Given the description of an element on the screen output the (x, y) to click on. 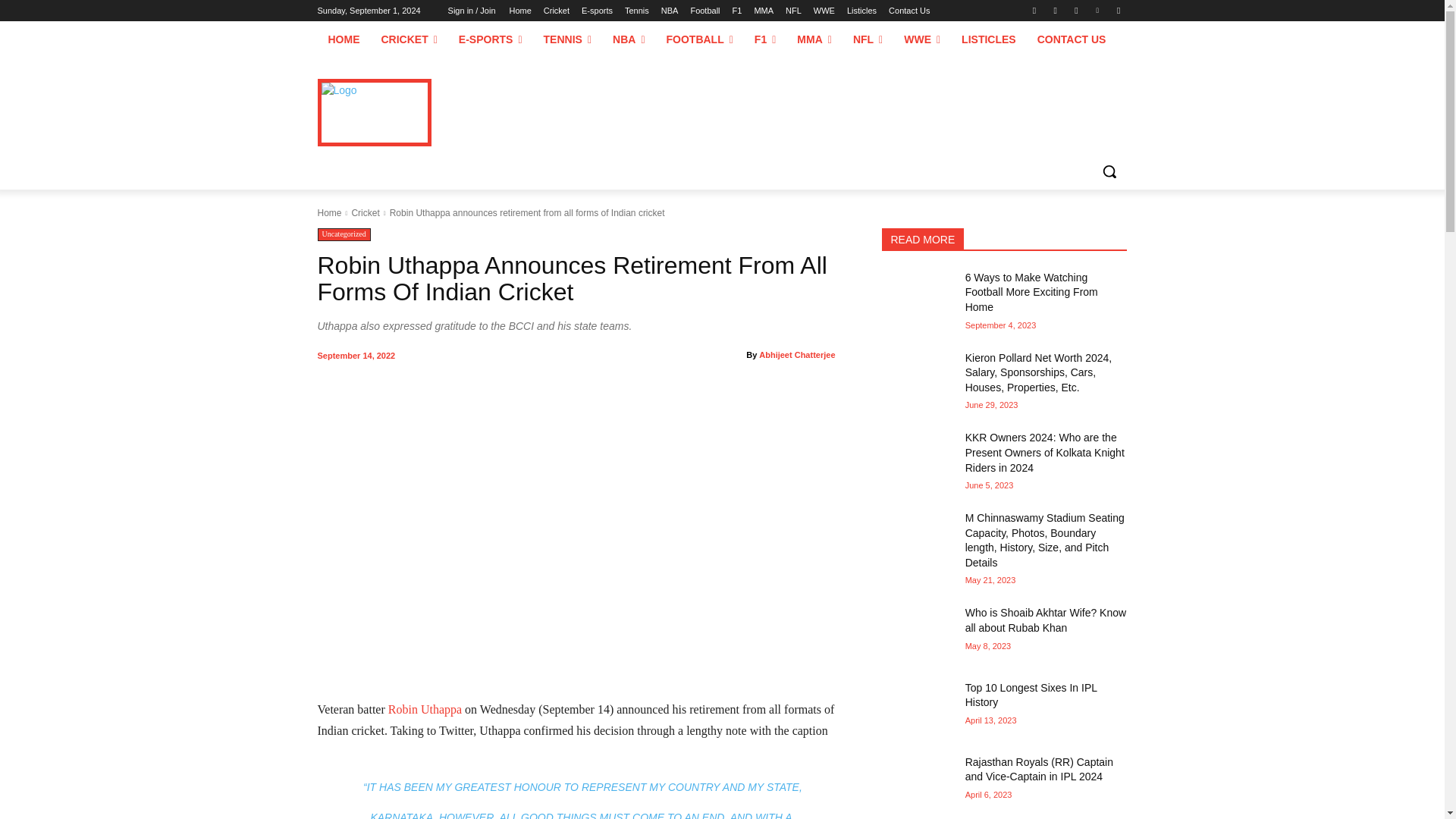
Instagram (1055, 9)
HOME (343, 39)
Home (519, 10)
CRICKET (407, 39)
Twitter (1075, 9)
Vimeo (1097, 9)
MMA (763, 10)
WWE (823, 10)
Contact Us (909, 10)
Youtube (1117, 9)
